Given the description of an element on the screen output the (x, y) to click on. 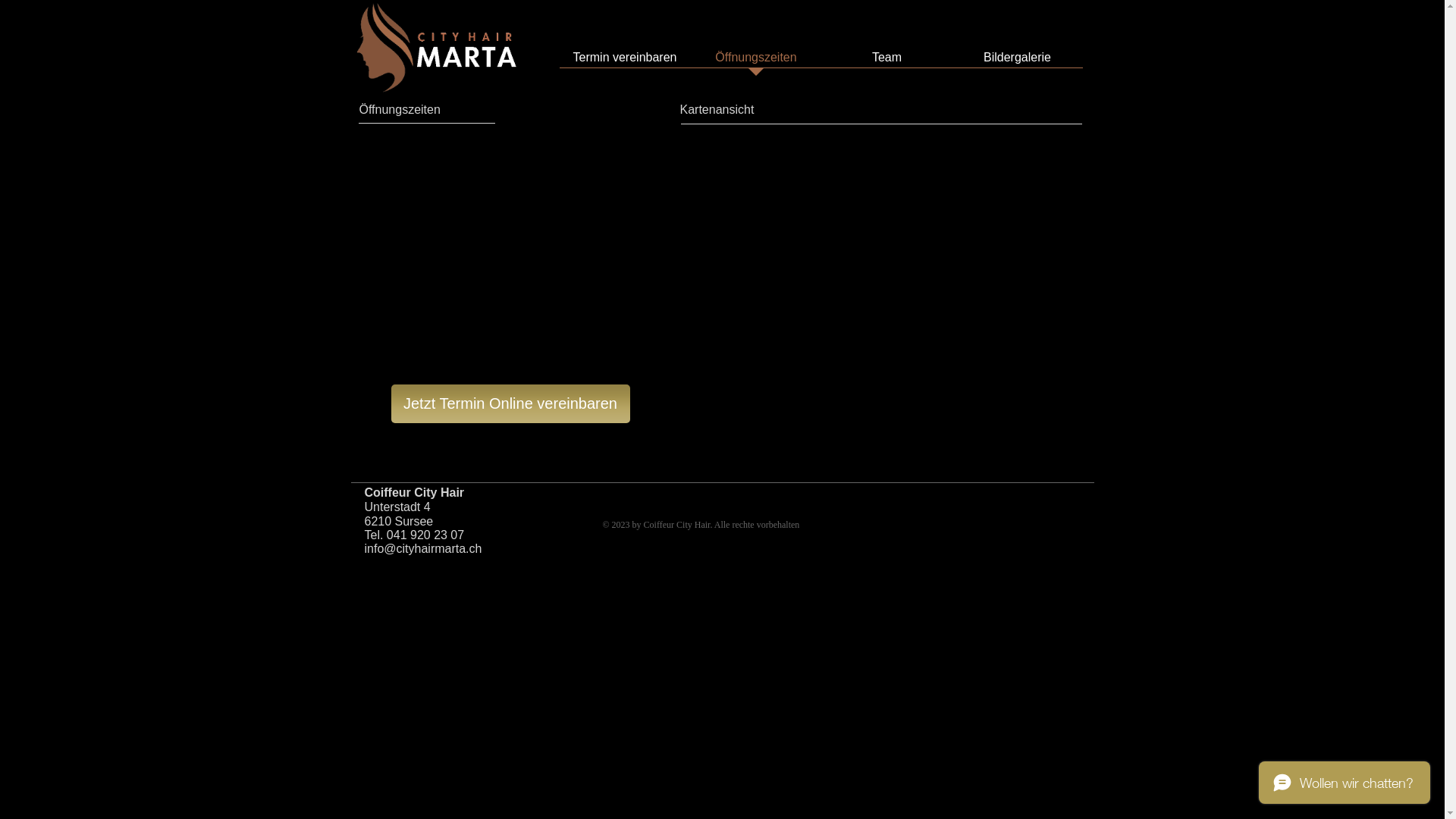
Termin vereinbaren Element type: text (624, 62)
Google Maps Element type: hover (881, 300)
Jetzt Termin Online vereinbaren Element type: text (510, 403)
coiffeur-CITYHAIR-logo-2016-transparent.gif Element type: hover (438, 47)
Team Element type: text (887, 62)
Bildergalerie Element type: text (1017, 62)
info@cityhairmarta.ch Element type: text (422, 548)
